Given the description of an element on the screen output the (x, y) to click on. 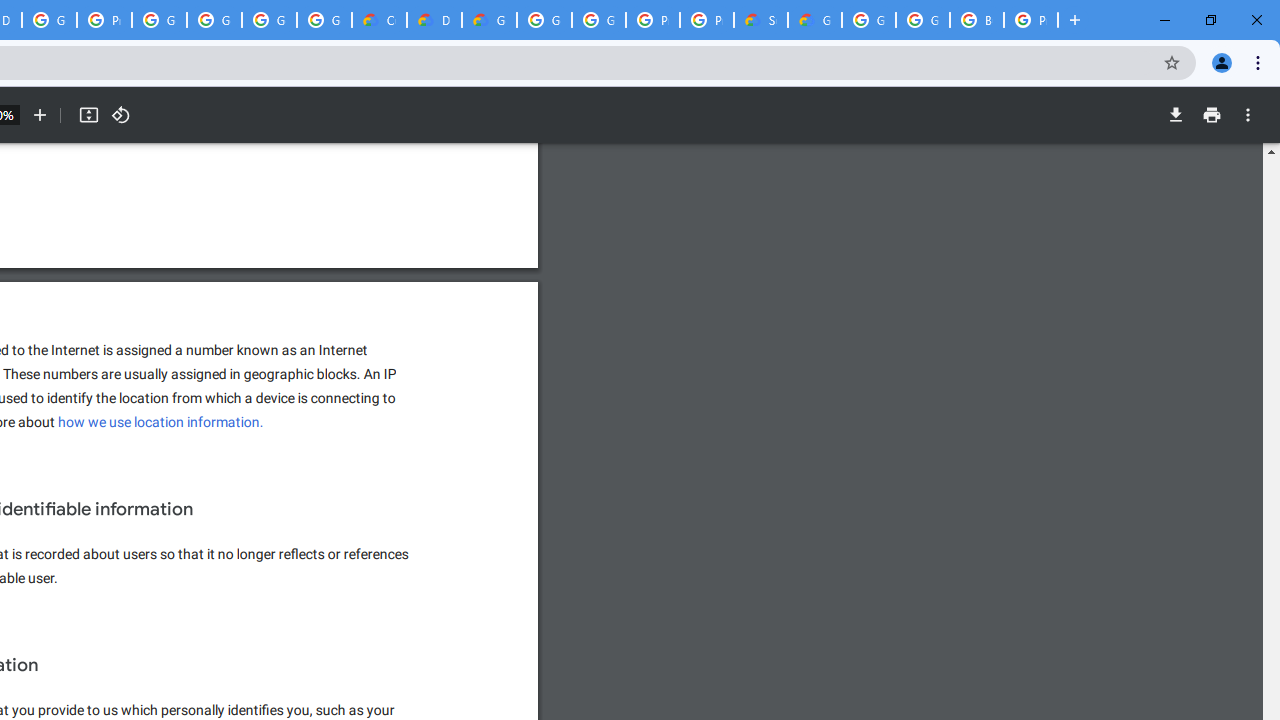
Fit to page (87, 115)
Google Workspace - Specific Terms (268, 20)
Rotate counterclockwise (119, 115)
how we use location information. (160, 422)
Customer Care | Google Cloud (379, 20)
More actions (1247, 115)
Google Cloud Platform (598, 20)
Gemini for Business and Developers | Google Cloud (489, 20)
Google Cloud Service Health (815, 20)
Google Cloud Platform (922, 20)
